Given the description of an element on the screen output the (x, y) to click on. 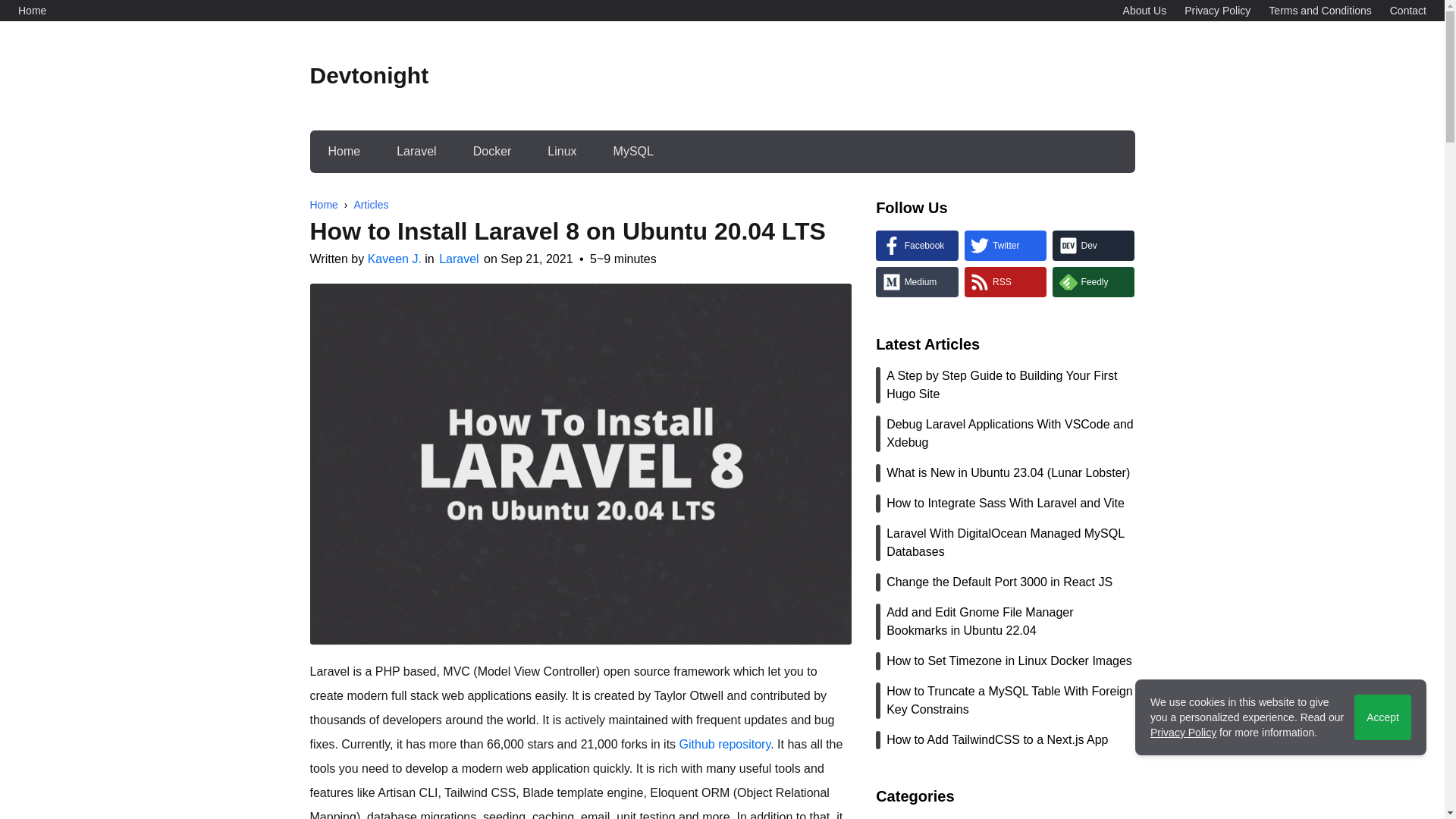
How to Add TailwindCSS to a Next.js App (1005, 740)
Linux (561, 151)
Change the Default Port 3000 in React JS (1005, 582)
How to Truncate a MySQL Table With Foreign Key Constrains (1005, 700)
Debug Laravel Applications With VSCode and Xdebug (1005, 433)
Add and Edit Gnome File Manager Bookmarks in Ubuntu 22.04 (1005, 621)
Docker (491, 151)
Home (322, 204)
Devtonight (368, 75)
Articles (370, 204)
Laravel (460, 258)
Home (343, 151)
Home (31, 10)
Laravel With DigitalOcean Managed MySQL Databases (1005, 542)
Privacy Policy (1217, 10)
